Given the description of an element on the screen output the (x, y) to click on. 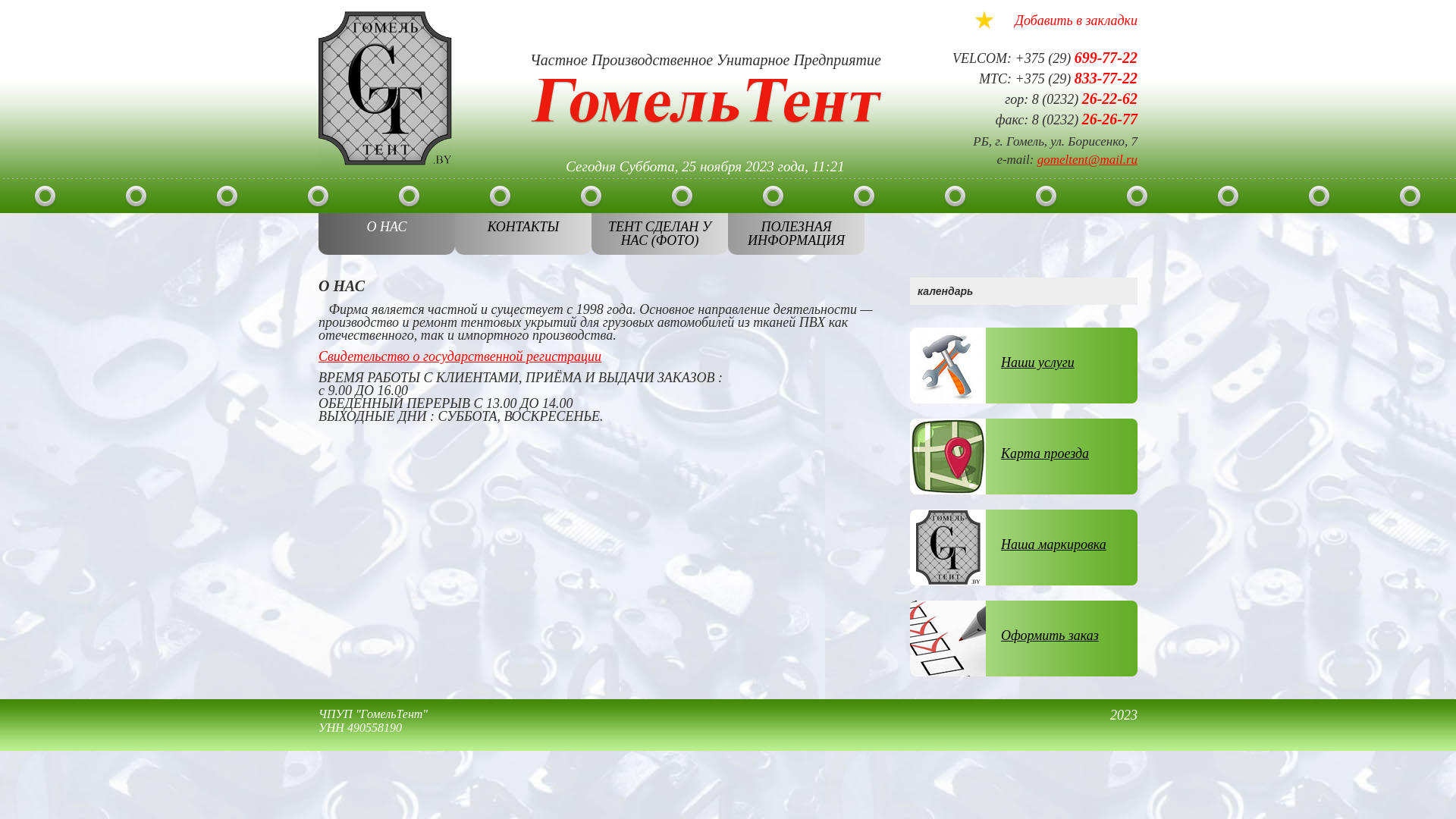
gomeltent@mail.ru Element type: text (1087, 159)
